Given the description of an element on the screen output the (x, y) to click on. 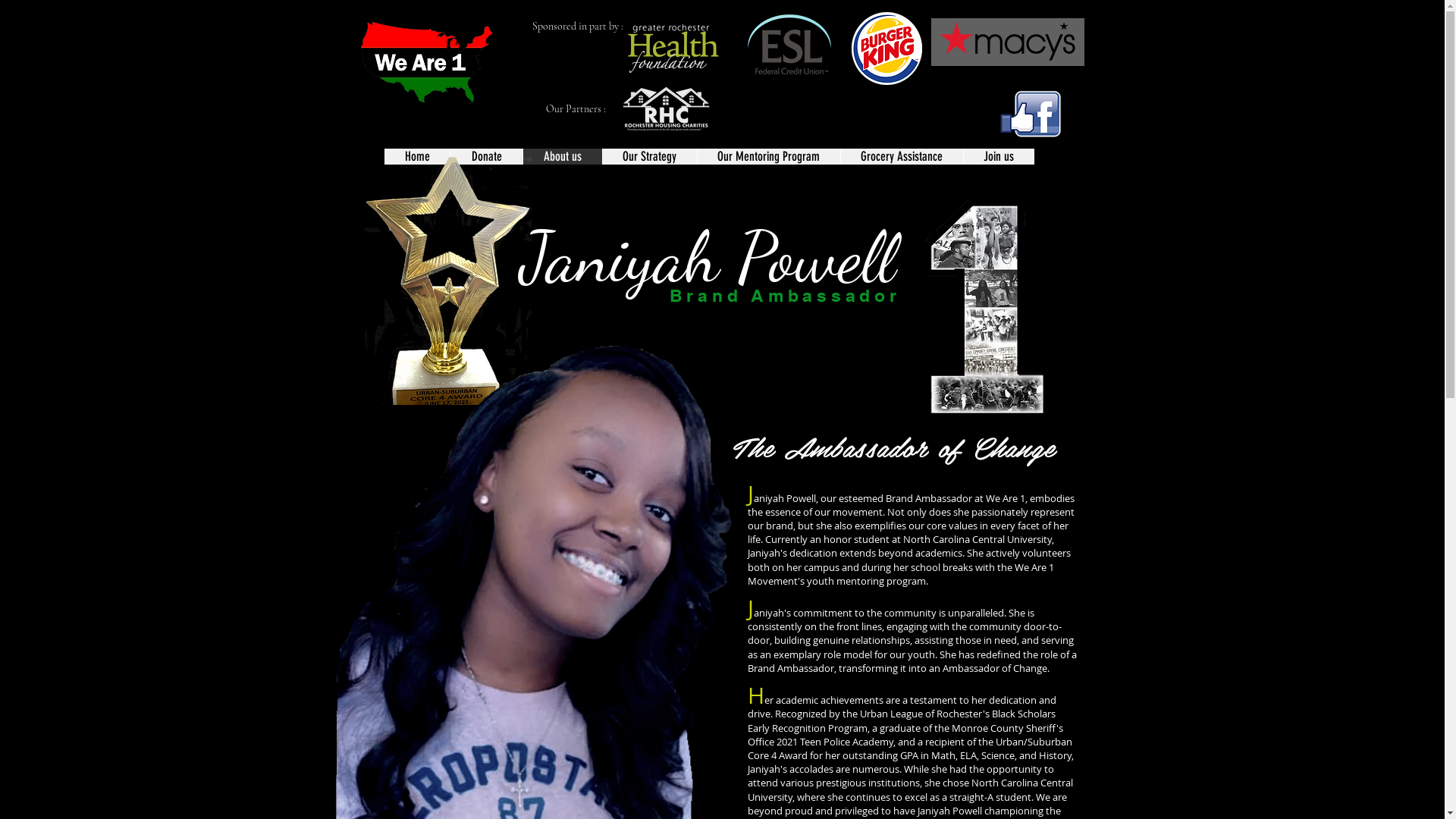
Join us Element type: text (998, 156)
Donate Element type: text (486, 156)
Home Element type: text (416, 156)
Grocery Assistance Element type: text (901, 156)
Our Strategy Element type: text (649, 156)
Our Mentoring Program Element type: text (767, 156)
About us Element type: text (561, 156)
